Given the description of an element on the screen output the (x, y) to click on. 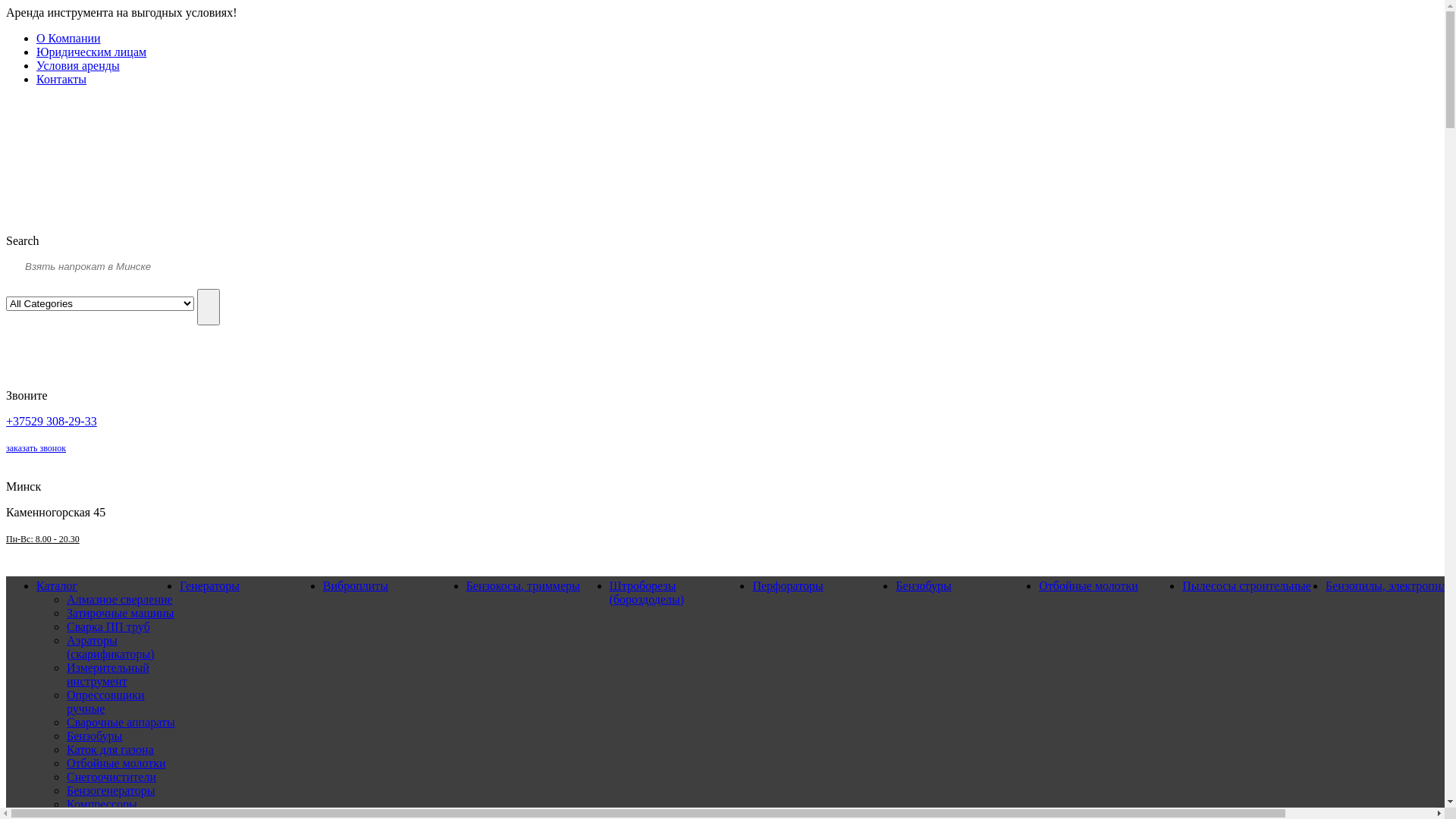
Search Element type: text (22, 240)
+37529 308-29-33 Element type: text (51, 420)
Search Element type: hover (208, 306)
